Given the description of an element on the screen output the (x, y) to click on. 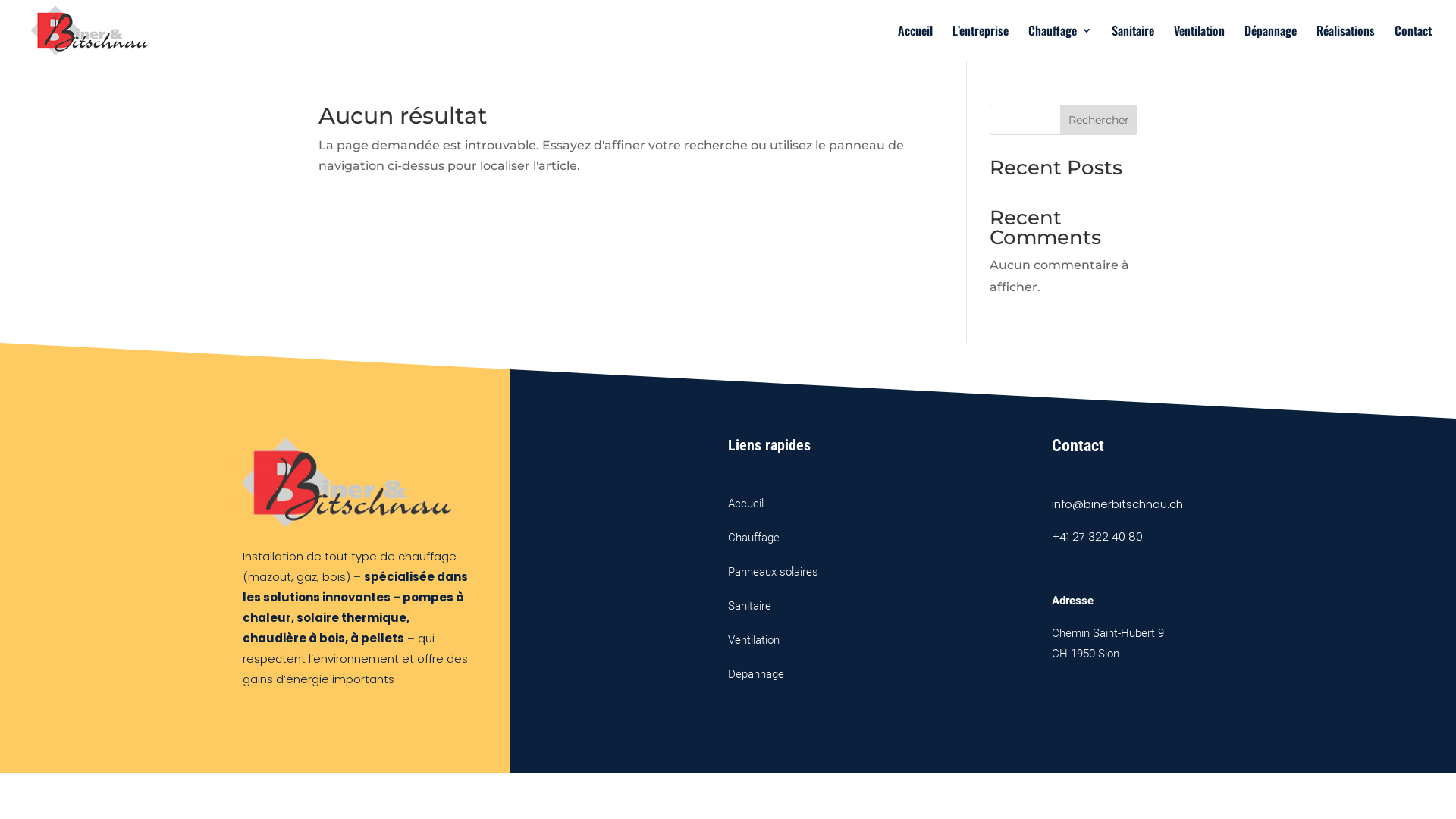
Ventilation Element type: text (753, 639)
Chauffage Element type: text (753, 537)
Ventilation Element type: text (1198, 42)
Sanitaire Element type: text (749, 605)
Rechercher Element type: text (1098, 119)
Sanitaire Element type: text (1132, 42)
Accueil Element type: text (914, 42)
Panneaux solaires Element type: text (773, 571)
Chauffage Element type: text (1060, 42)
info@binerbitschnau.ch Element type: text (1117, 503)
Logo fond transparent Element type: hover (346, 482)
+41 27 322 40 80 Element type: text (1096, 536)
Contact Element type: text (1412, 42)
Accueil Element type: text (745, 503)
